Given the description of an element on the screen output the (x, y) to click on. 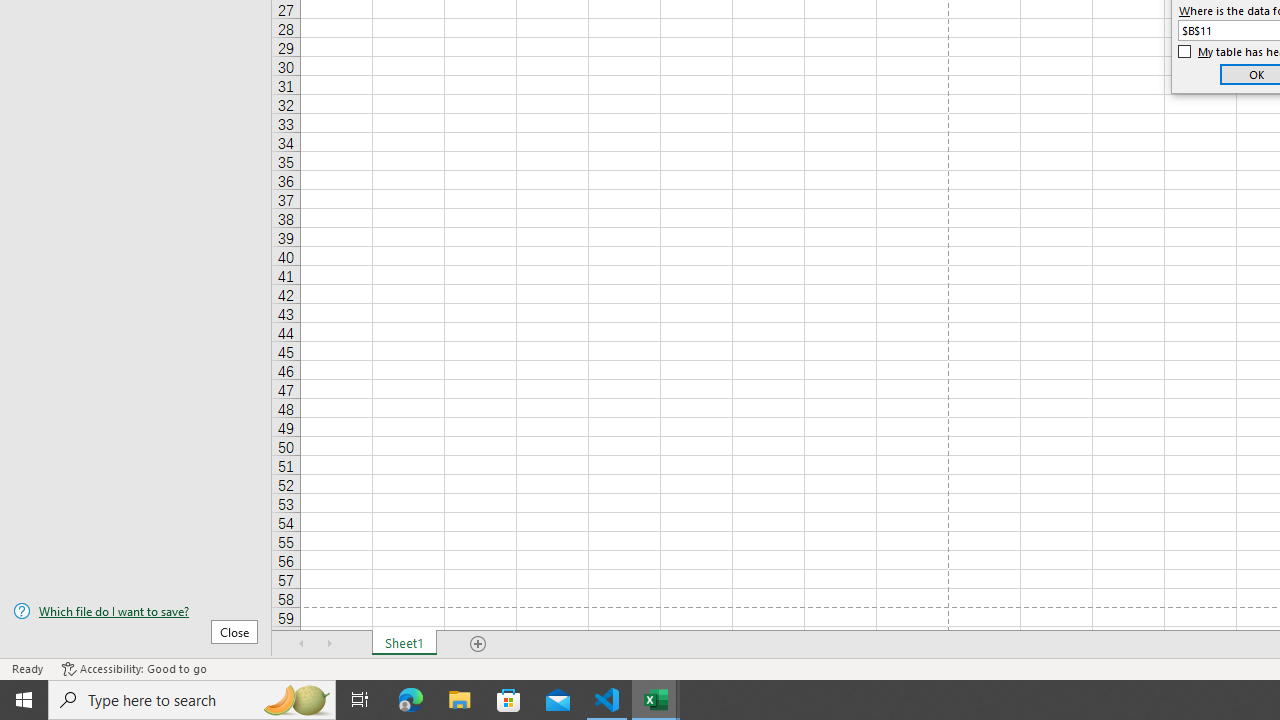
Which file do I want to save? (136, 611)
Accessibility Checker Accessibility: Good to go (134, 668)
